Given the description of an element on the screen output the (x, y) to click on. 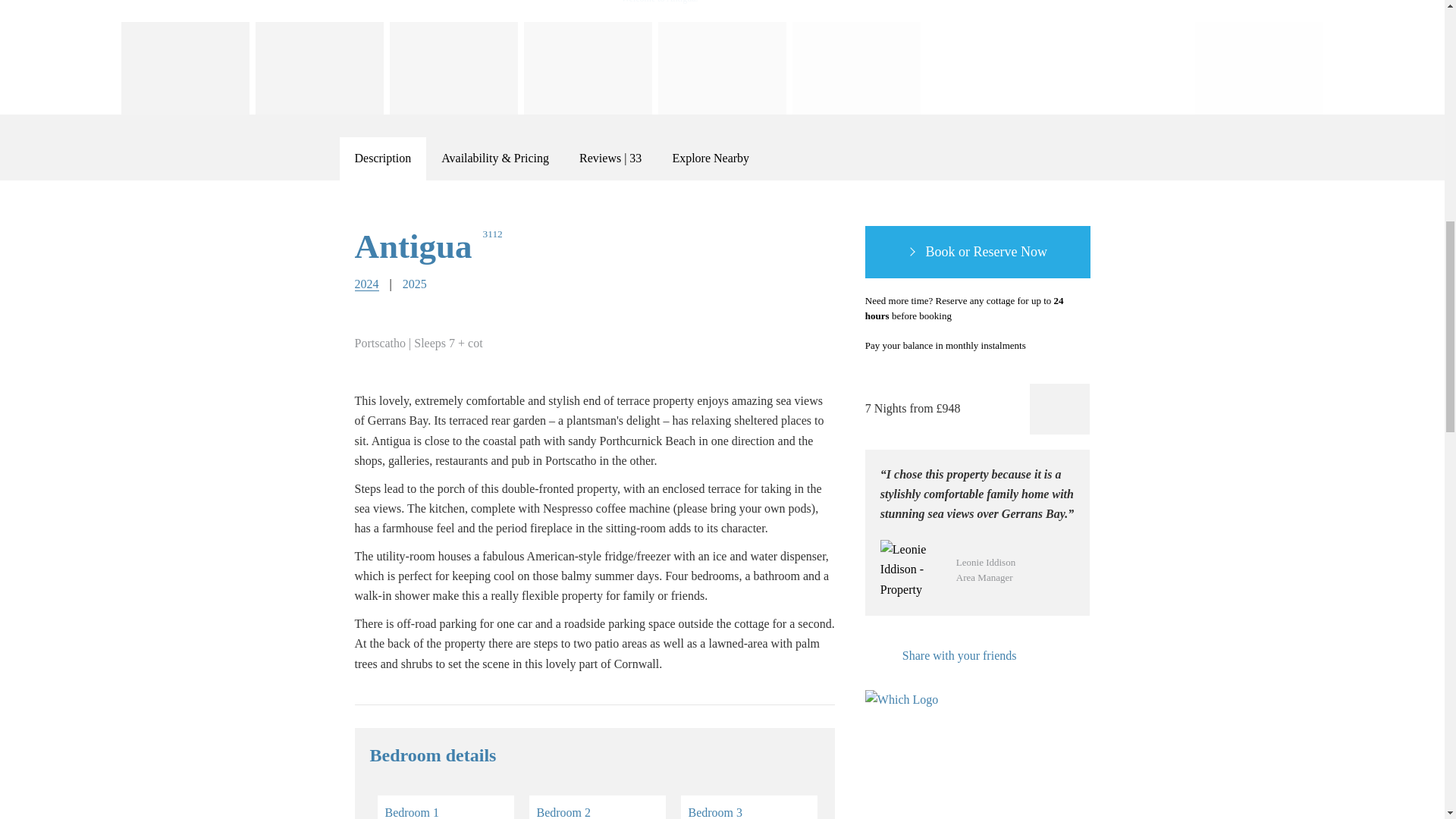
Description (382, 158)
Explore Nearby (710, 158)
2024 (366, 284)
Share with your friends (940, 655)
Classic Cottages is a Which? Recommended Provider (908, 718)
Book or Reserve (977, 252)
2025 (414, 283)
Part Payment Information (1042, 345)
